Given the description of an element on the screen output the (x, y) to click on. 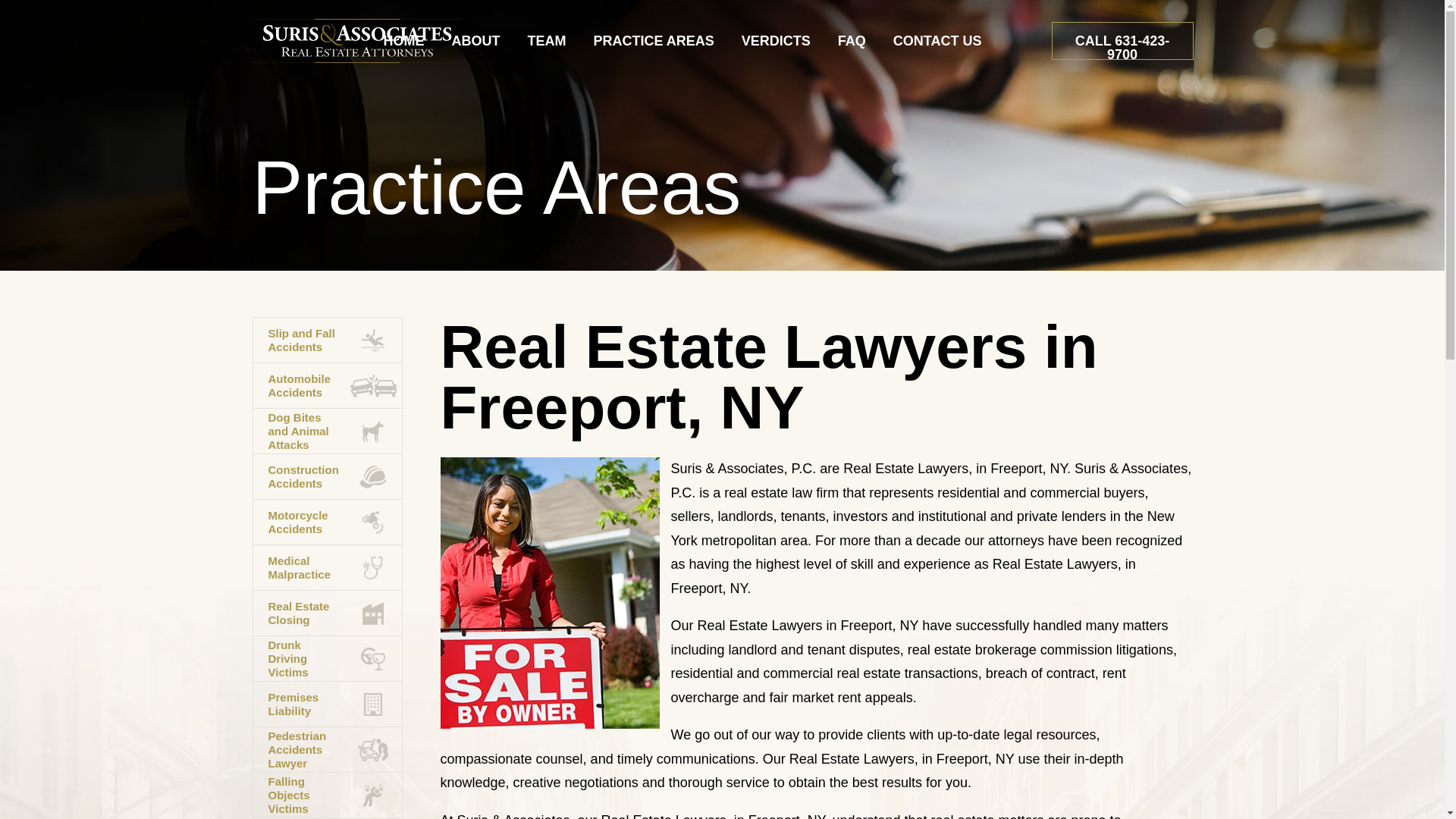
PRACTICE AREAS (652, 39)
TEAM (546, 39)
HOME (403, 39)
ABOUT (475, 39)
